Given the description of an element on the screen output the (x, y) to click on. 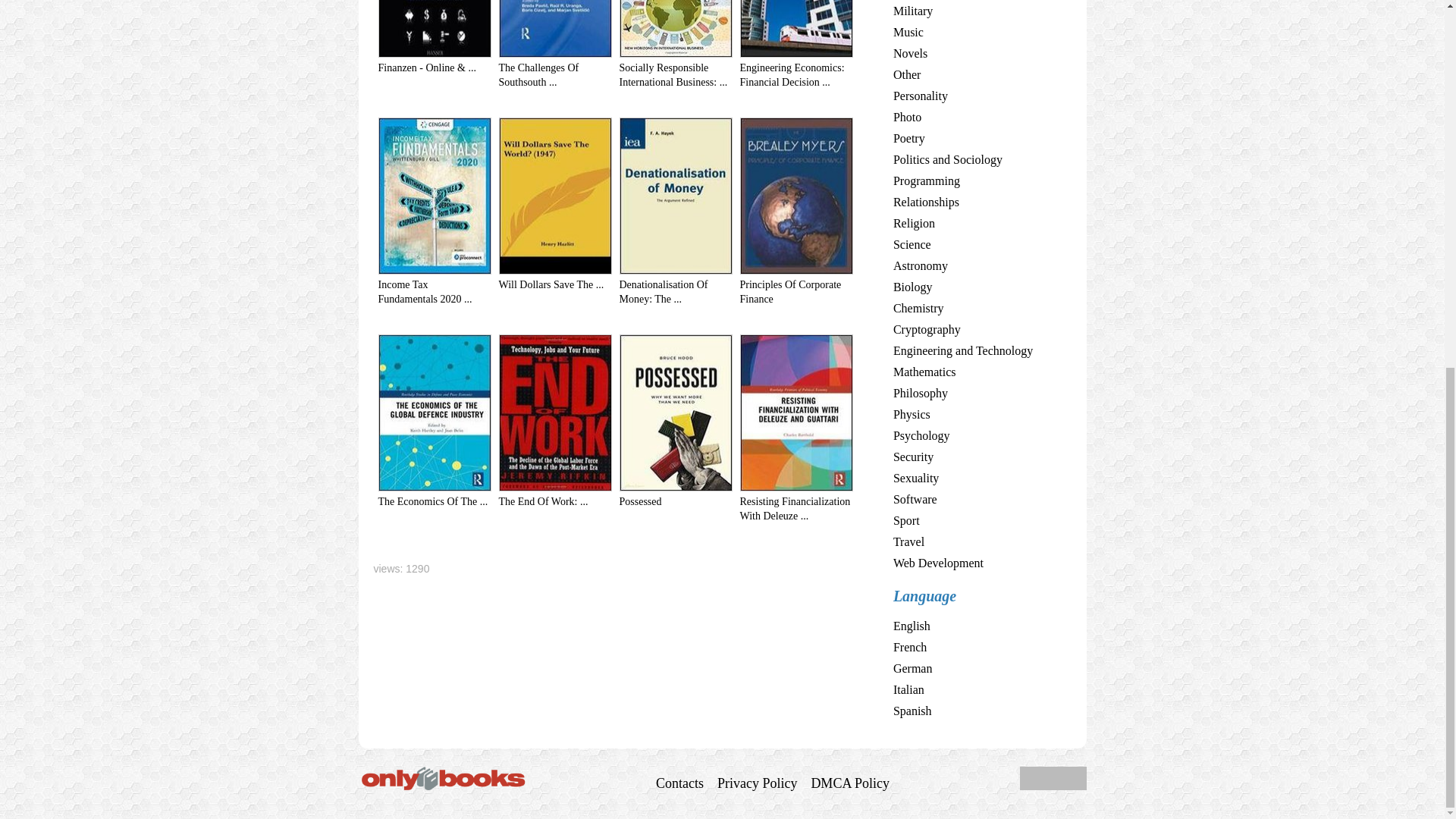
The Challenges Of Southsouth Cooperation (555, 53)
The Challenges Of Southsouth Cooperation (539, 74)
